Given the description of an element on the screen output the (x, y) to click on. 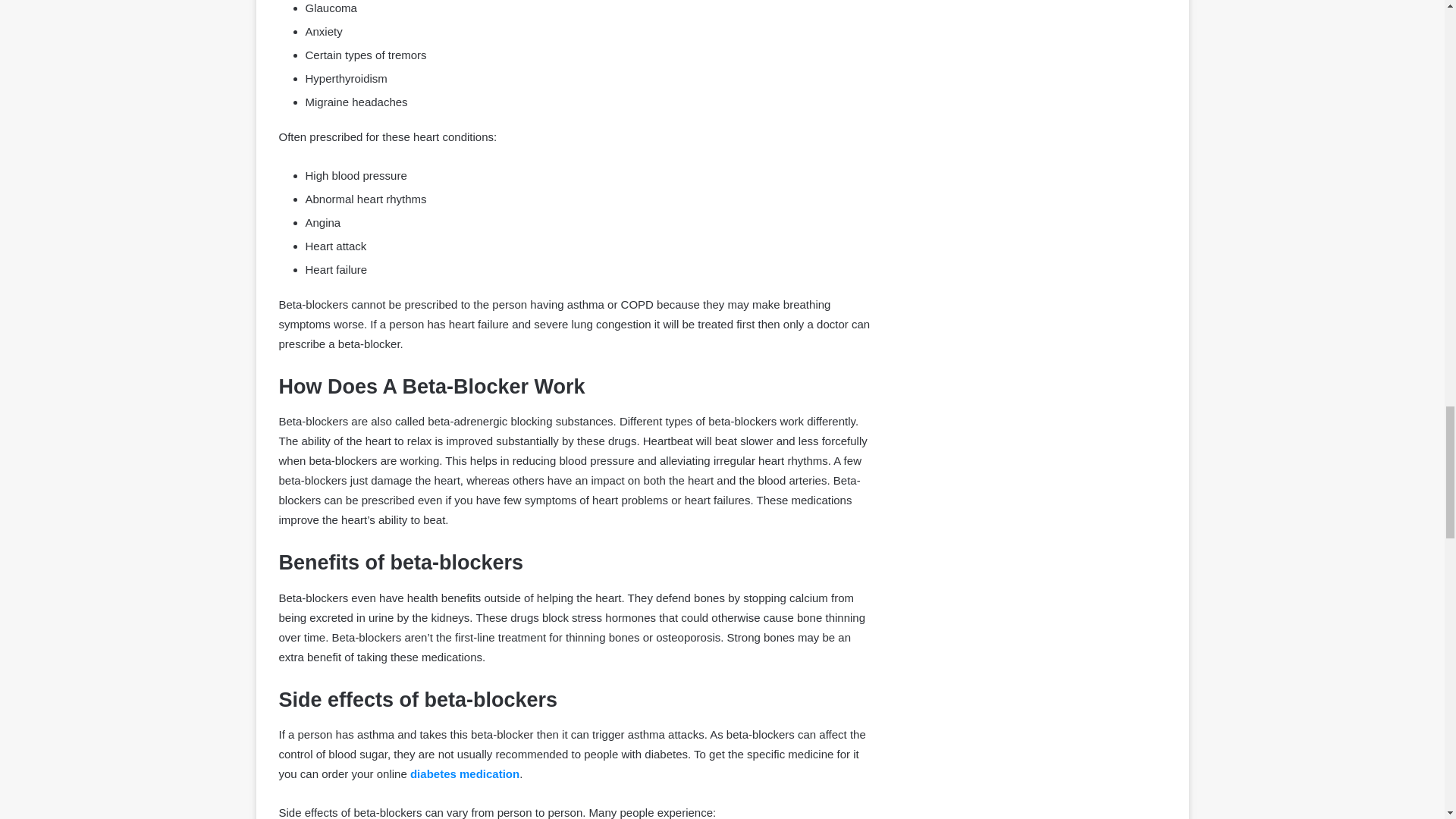
diabetes medication (464, 773)
